Given the description of an element on the screen output the (x, y) to click on. 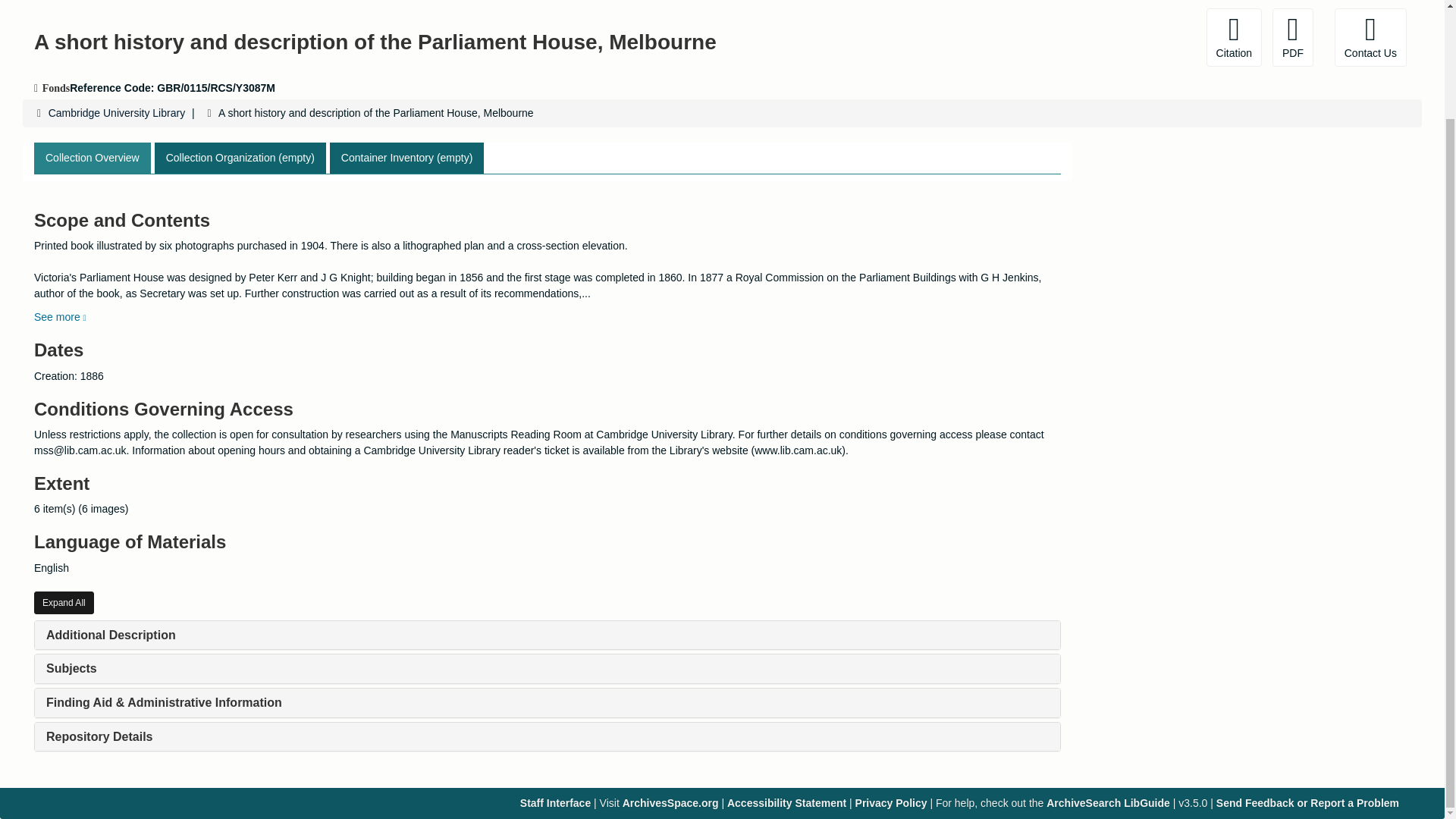
Page Actions (1130, 37)
Subjects (71, 667)
See more (59, 316)
Privacy Policy (891, 802)
Expand All (63, 602)
Additional Description (111, 634)
Contact Us (1370, 37)
Citation (1234, 37)
Cambridge University Library (117, 112)
Citation (1234, 37)
Collection Overview (92, 157)
Contact Us (1370, 37)
Accessibility Statement (785, 802)
Repository Details (99, 736)
